Given the description of an element on the screen output the (x, y) to click on. 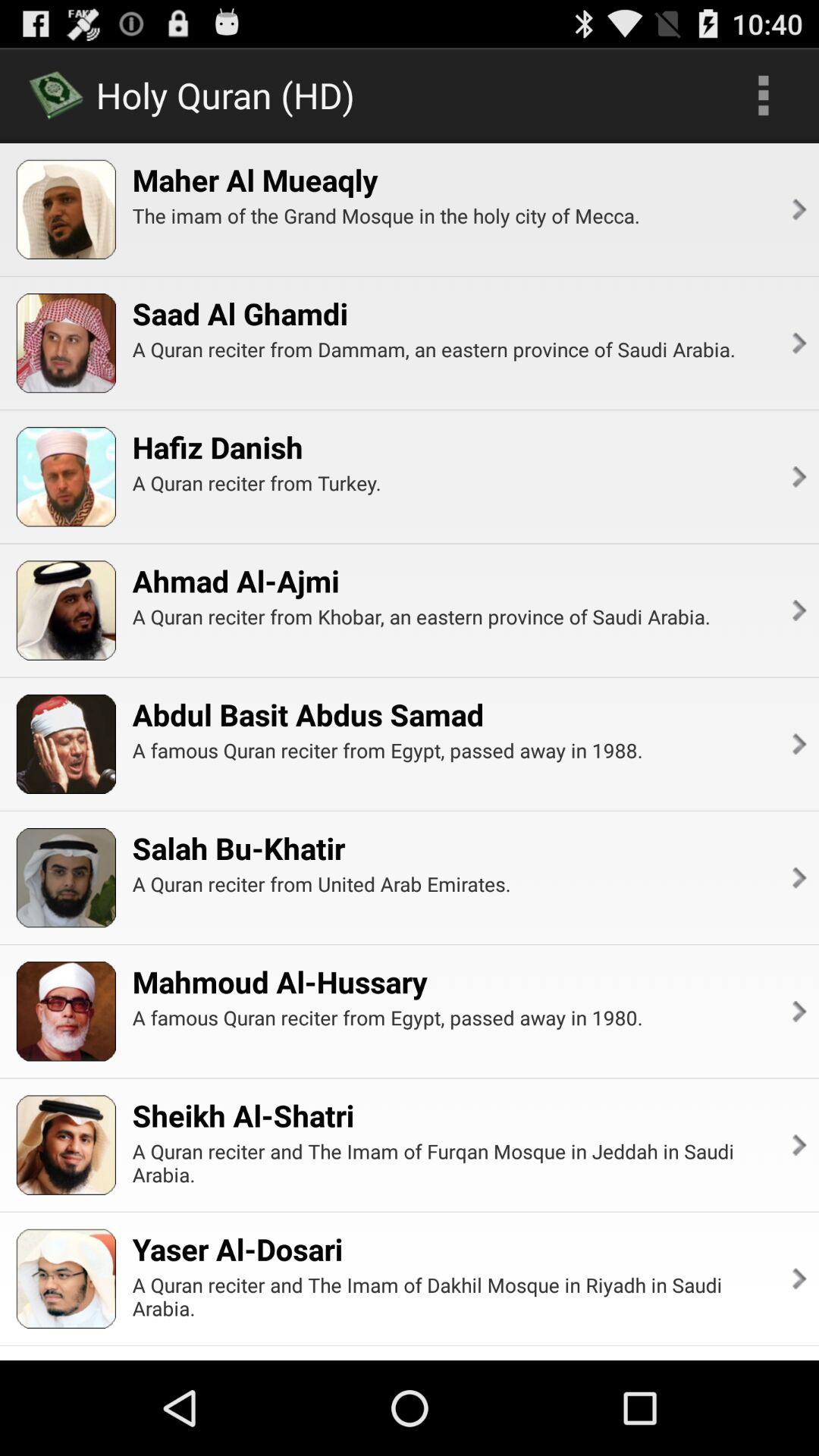
tap the app above the a famous quran app (279, 981)
